Given the description of an element on the screen output the (x, y) to click on. 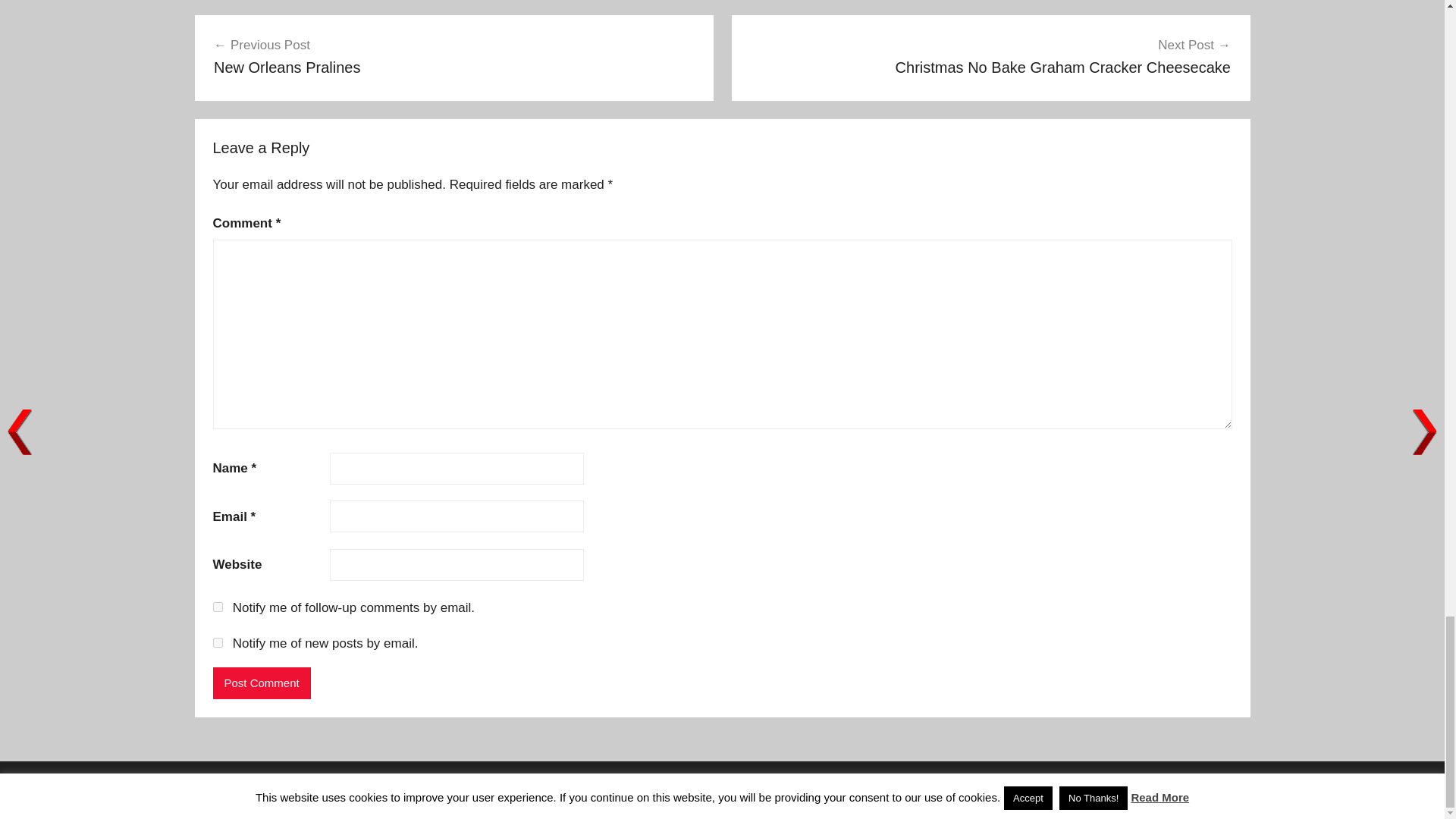
subscribe (454, 55)
Post Comment (217, 642)
Post Comment (261, 682)
subscribe (990, 55)
